Given the description of an element on the screen output the (x, y) to click on. 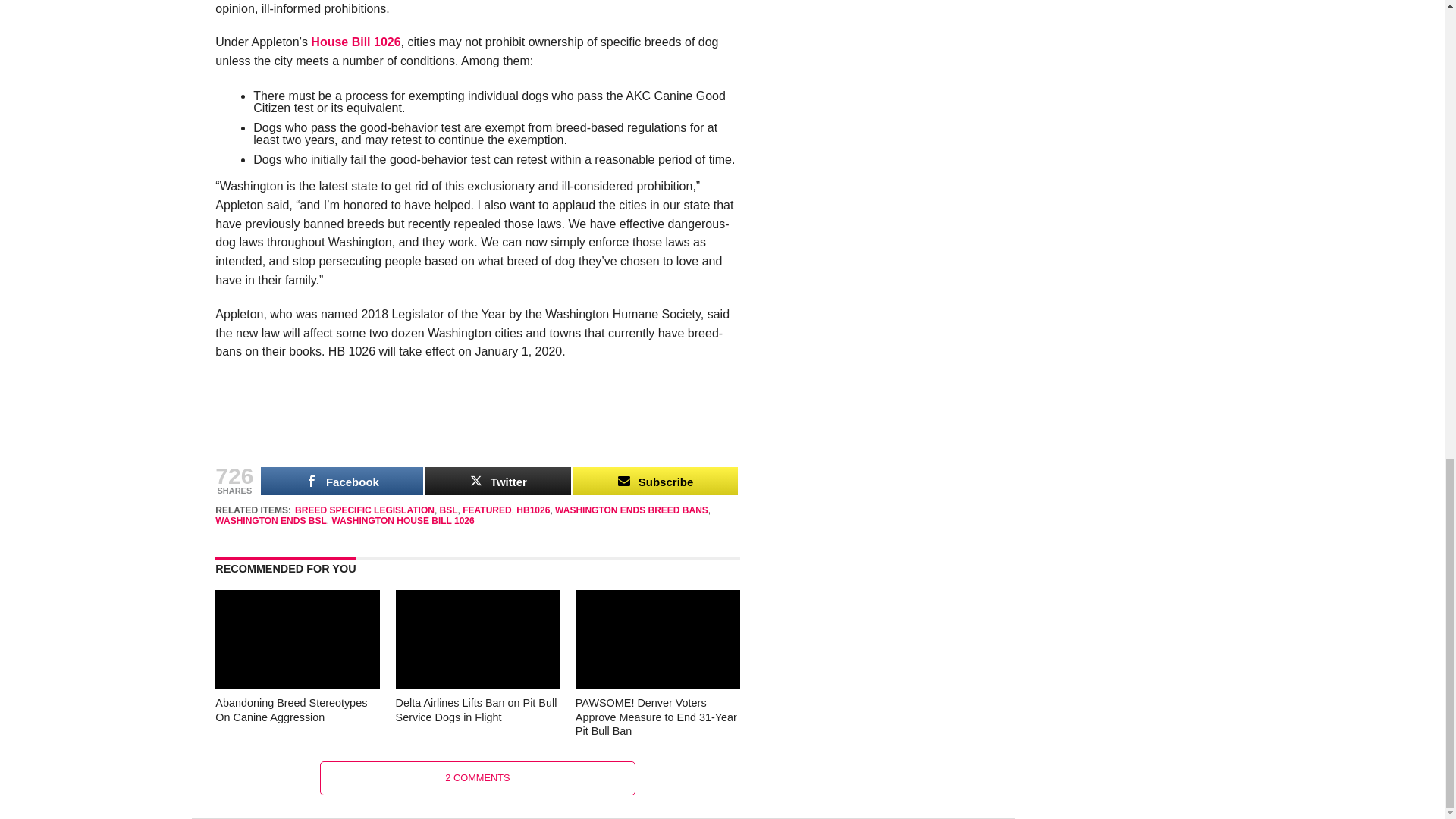
Abandoning Breed Stereotypes On Canine Aggression 5 (297, 638)
New Washington Law Will End Breed-Specific Bans 4 (477, 424)
Abandoning Breed Stereotypes On Canine Aggression (297, 684)
Delta Airlines Lifts Ban on Pit Bull Service Dogs in Flight (478, 684)
